Given the description of an element on the screen output the (x, y) to click on. 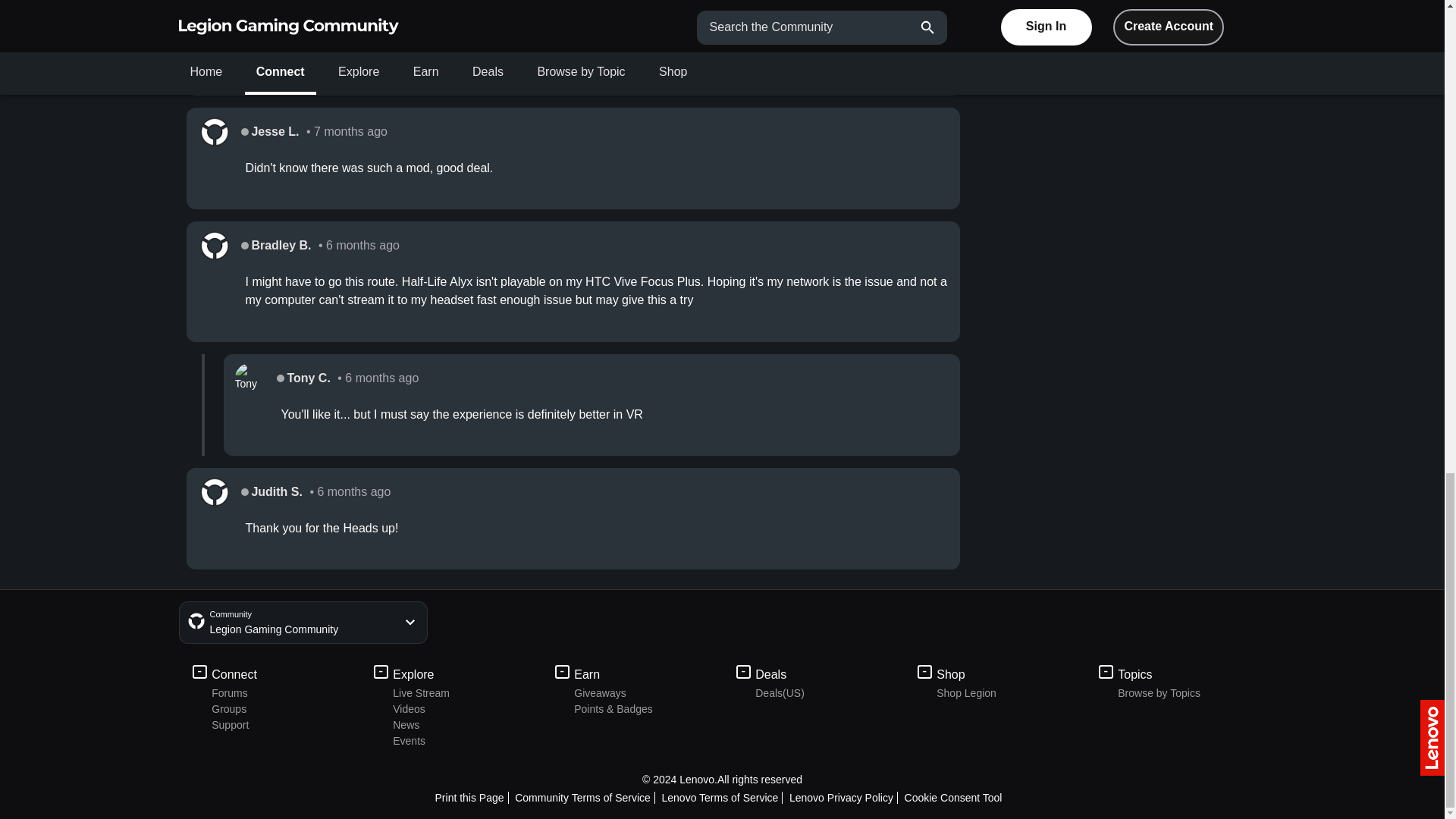
Lenovo Terms of Service (722, 797)
 Cookie Consent Tool (955, 797)
Print this Page (471, 797)
Lenovo Privacy Policy (843, 797)
Community Terms of Service (585, 797)
